Given the description of an element on the screen output the (x, y) to click on. 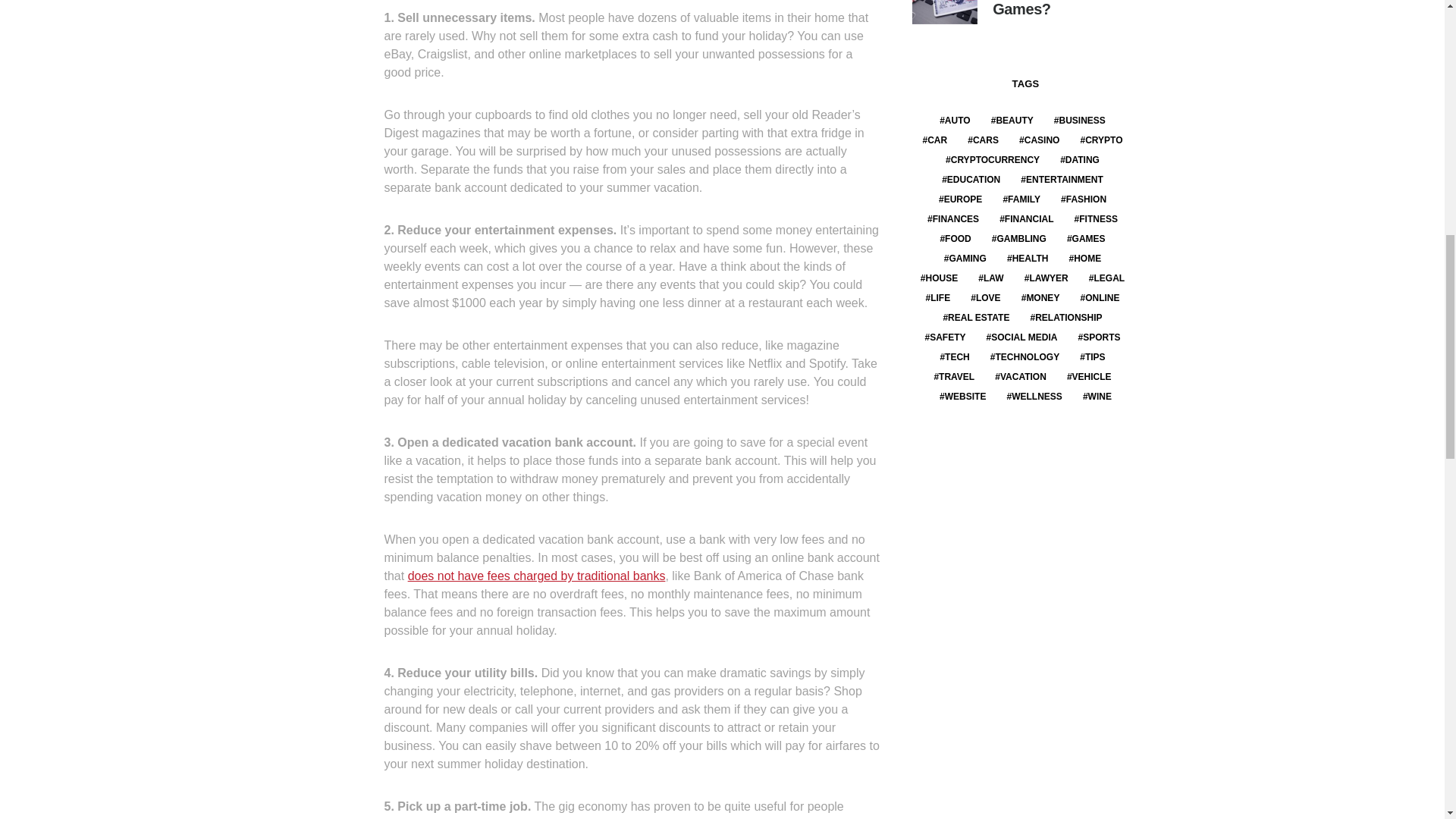
does not have fees charged by traditional banks (536, 575)
